Given the description of an element on the screen output the (x, y) to click on. 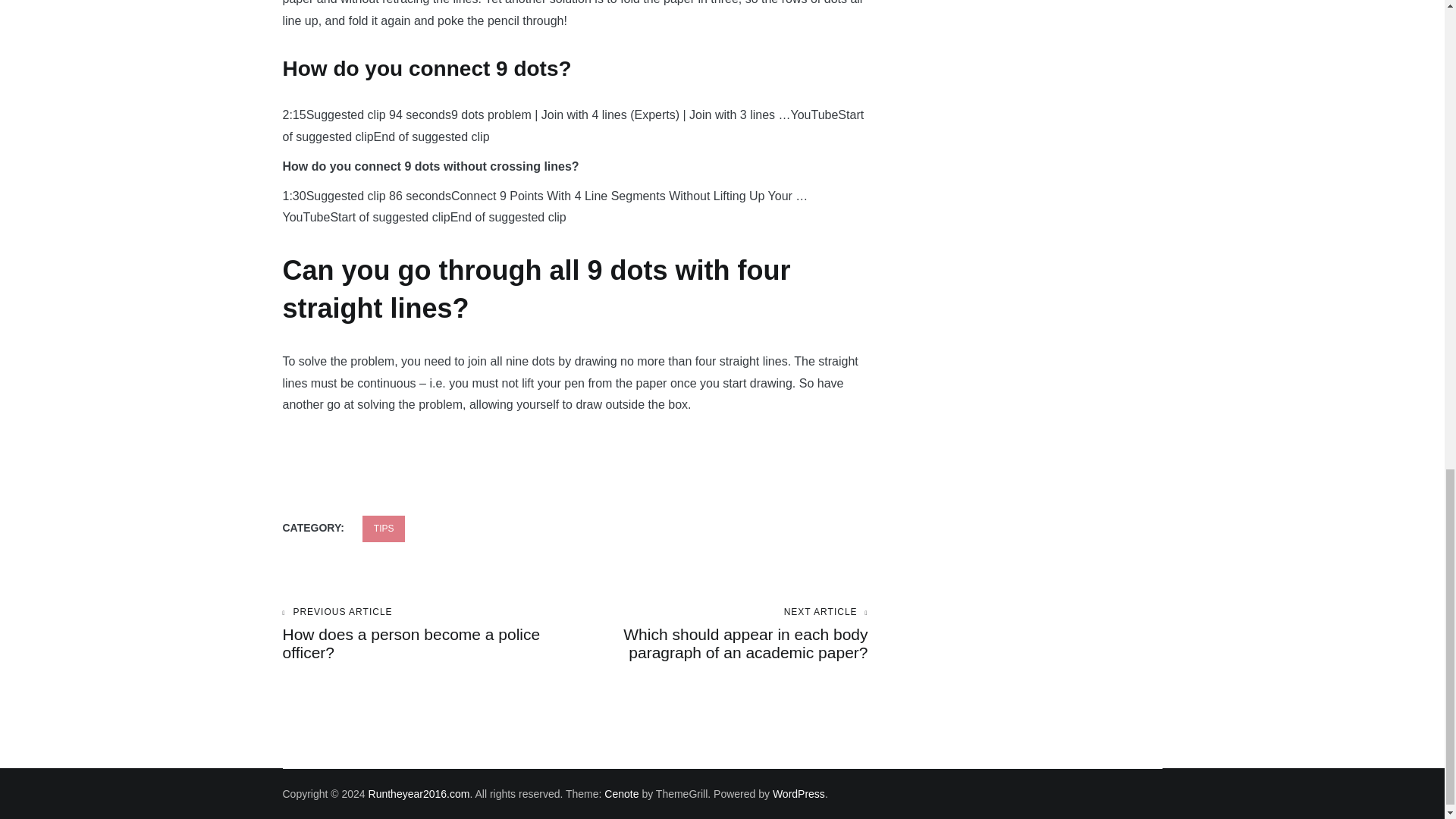
Cenote (621, 793)
WordPress (428, 633)
Runtheyear2016.com (799, 793)
TIPS (419, 793)
Runtheyear2016.com (384, 528)
